Given the description of an element on the screen output the (x, y) to click on. 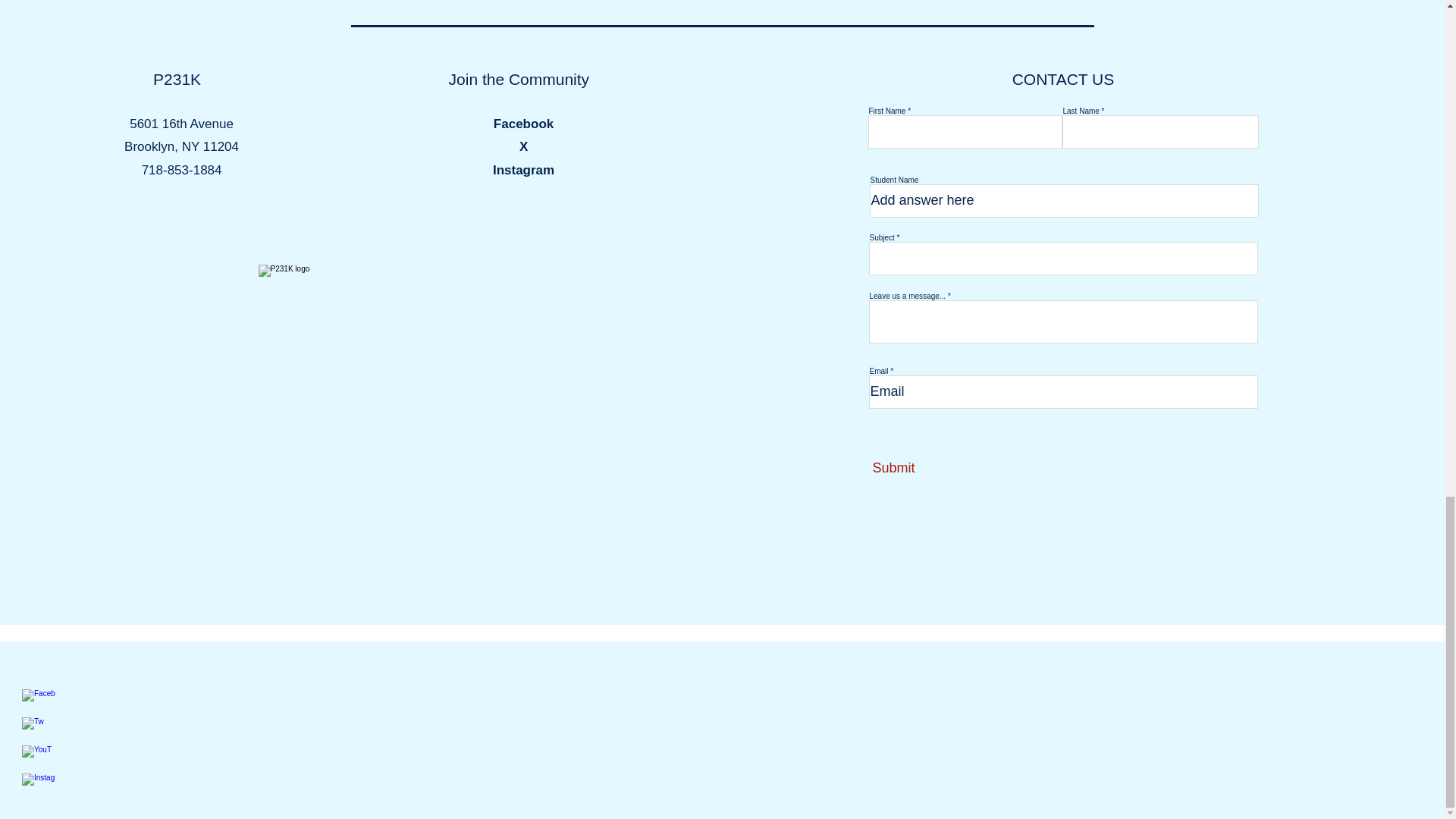
district 75.png (515, 2)
Instagram (523, 169)
Submit (940, 468)
nyc schools account.png (910, 2)
P231K (176, 78)
nyc support hub.png (1221, 2)
Facebook (523, 124)
